Given the description of an element on the screen output the (x, y) to click on. 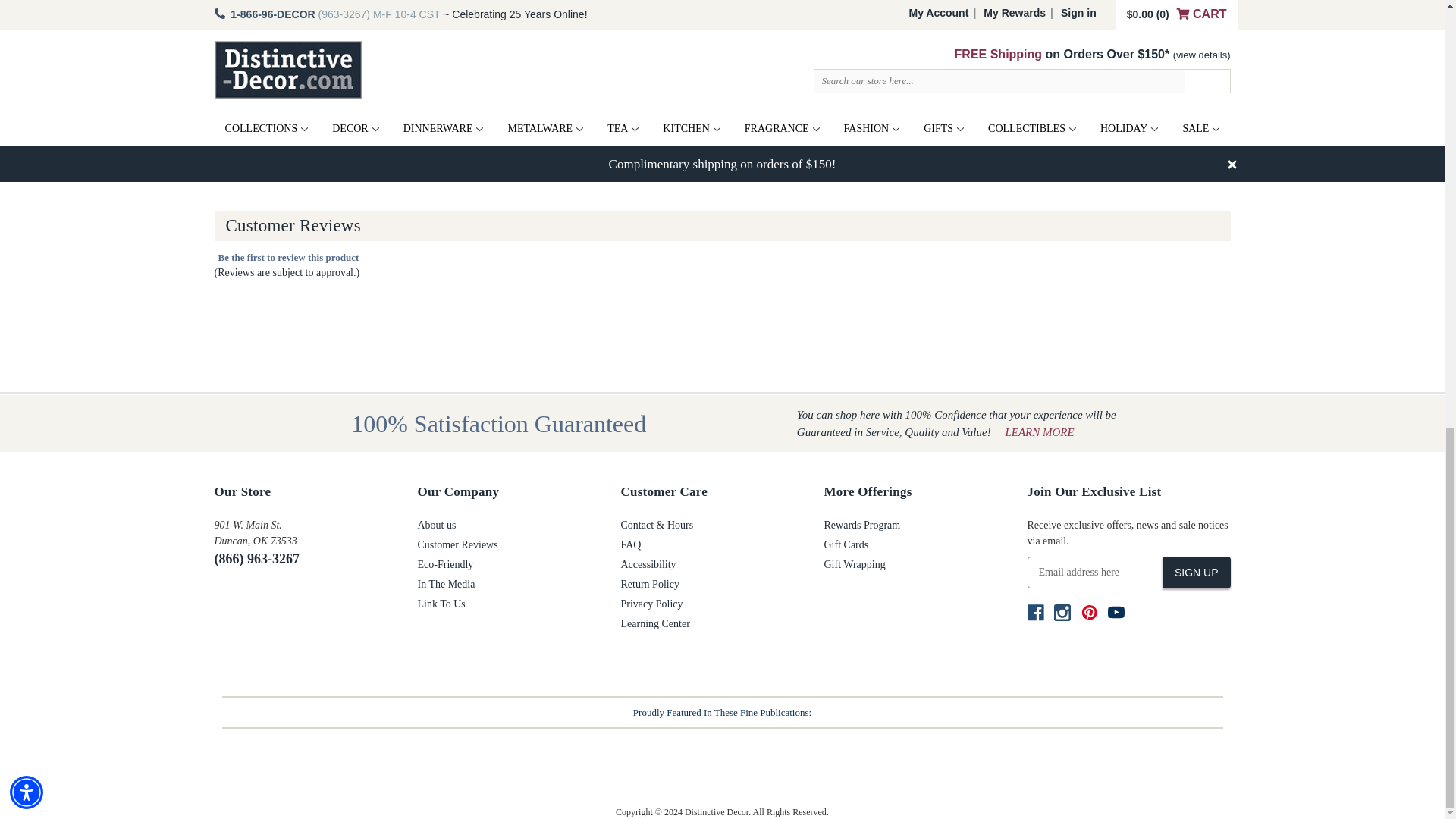
Sign Up (1195, 572)
Nora Fleming Platters with Decorative Mini Charms (317, 71)
